Given the description of an element on the screen output the (x, y) to click on. 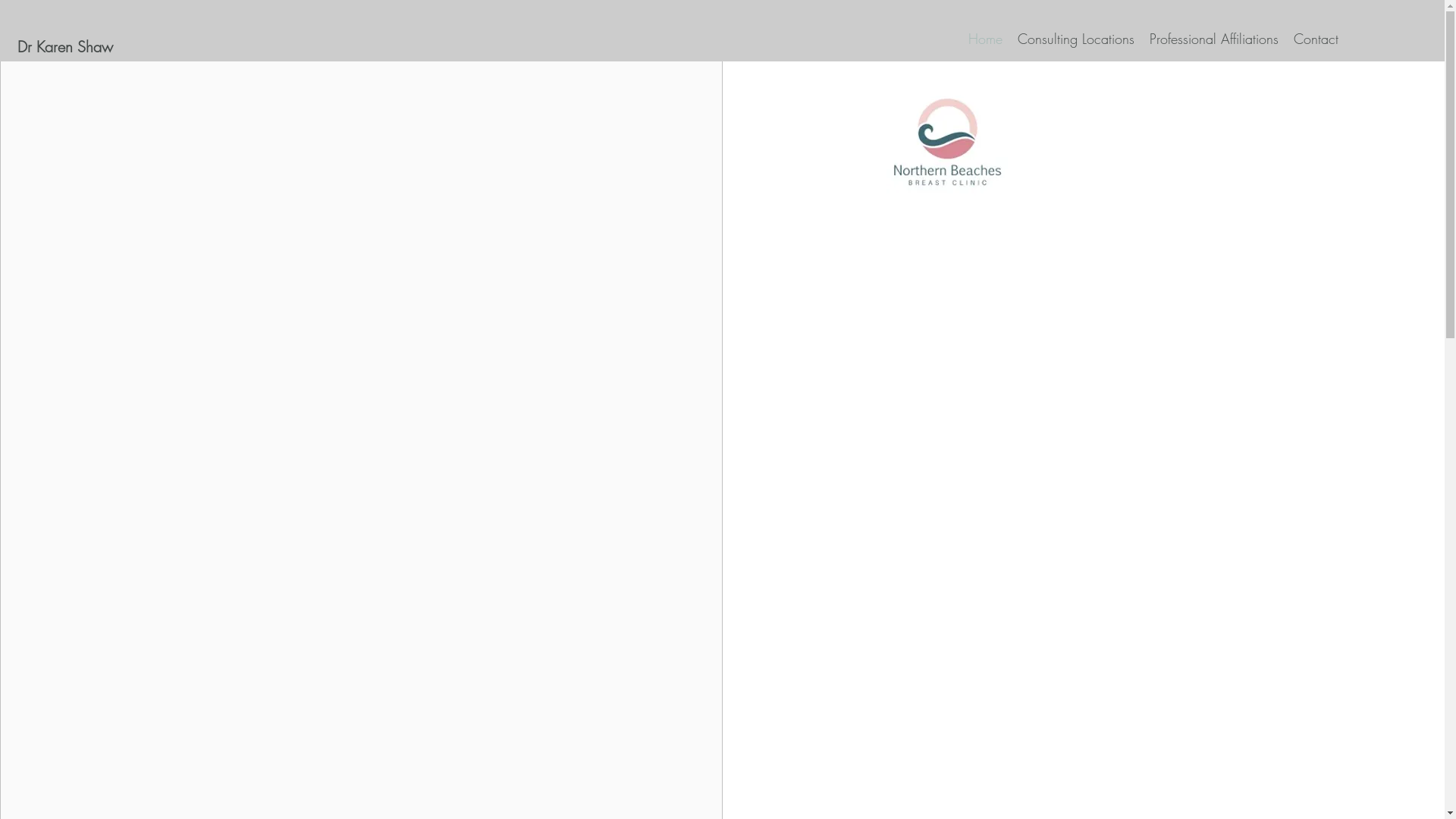
Contact Element type: text (1316, 38)
Dr Karen Shaw Element type: text (187, 46)
Professional Affiliations Element type: text (1214, 38)
Consulting Locations Element type: text (1076, 38)
Home Element type: text (985, 38)
